Given the description of an element on the screen output the (x, y) to click on. 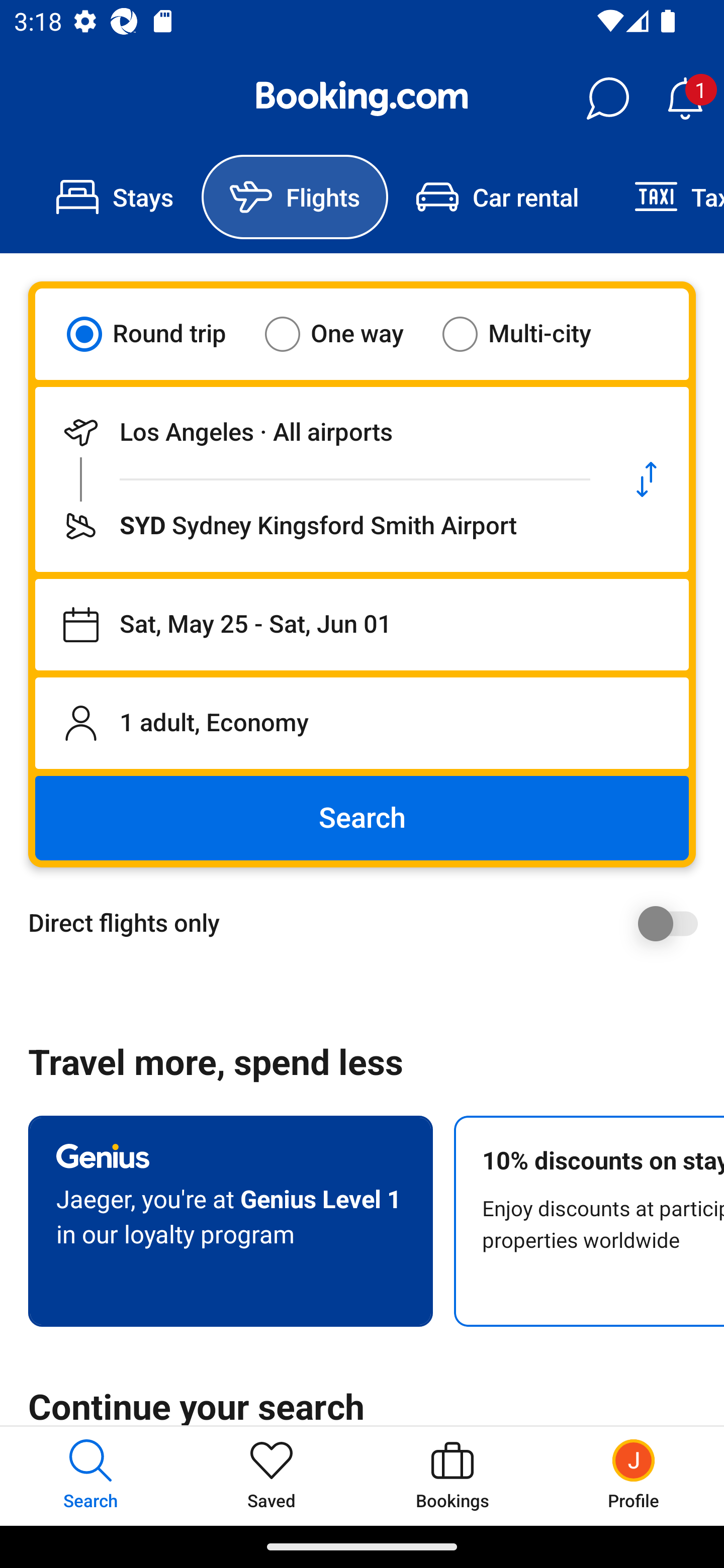
Messages (607, 98)
Notifications (685, 98)
Stays (114, 197)
Flights (294, 197)
Car rental (497, 197)
Taxi (665, 197)
One way (346, 333)
Multi-city (528, 333)
Departing from Los Angeles · All airports (319, 432)
Swap departure location and destination (646, 479)
Flying to SYD Sydney Kingsford Smith Airport (319, 525)
Departing on Sat, May 25, returning on Sat, Jun 01 (361, 624)
1 adult, Economy (361, 722)
Search (361, 818)
Direct flights only (369, 923)
Saved (271, 1475)
Bookings (452, 1475)
Profile (633, 1475)
